Given the description of an element on the screen output the (x, y) to click on. 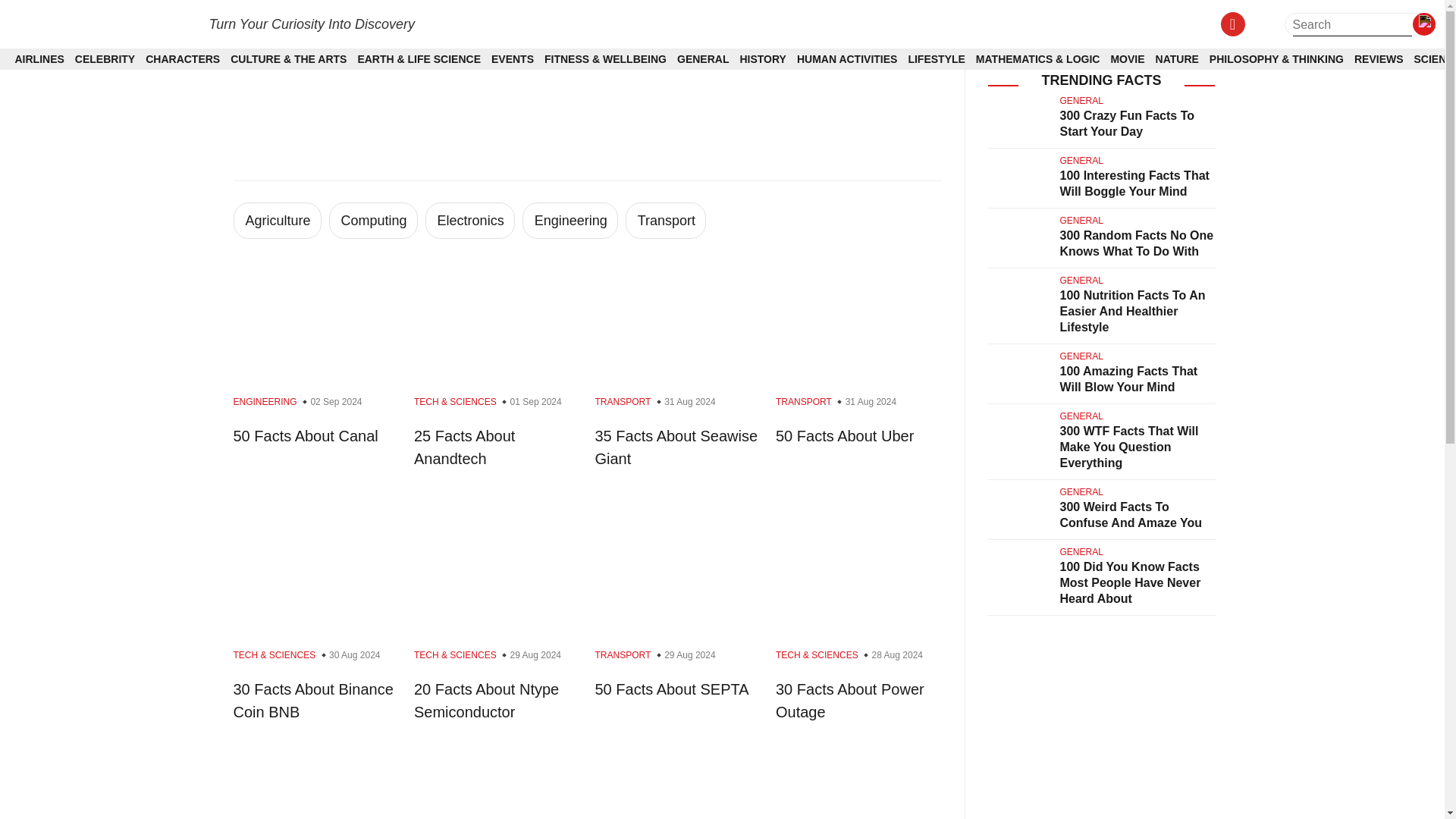
300 Random Facts No One Knows What To Do With  (1136, 243)
Facts.net (100, 23)
300 WTF Facts That Will Make You Question Everything  (1128, 447)
300 Crazy Fun Facts To Start Your Day  (1127, 123)
100 Amazing Facts That Will Blow Your Mind  (1128, 378)
HUMAN ACTIVITIES (846, 59)
HISTORY (762, 59)
AIRLINES (39, 59)
CELEBRITY (105, 59)
CHARACTERS (182, 59)
